Given the description of an element on the screen output the (x, y) to click on. 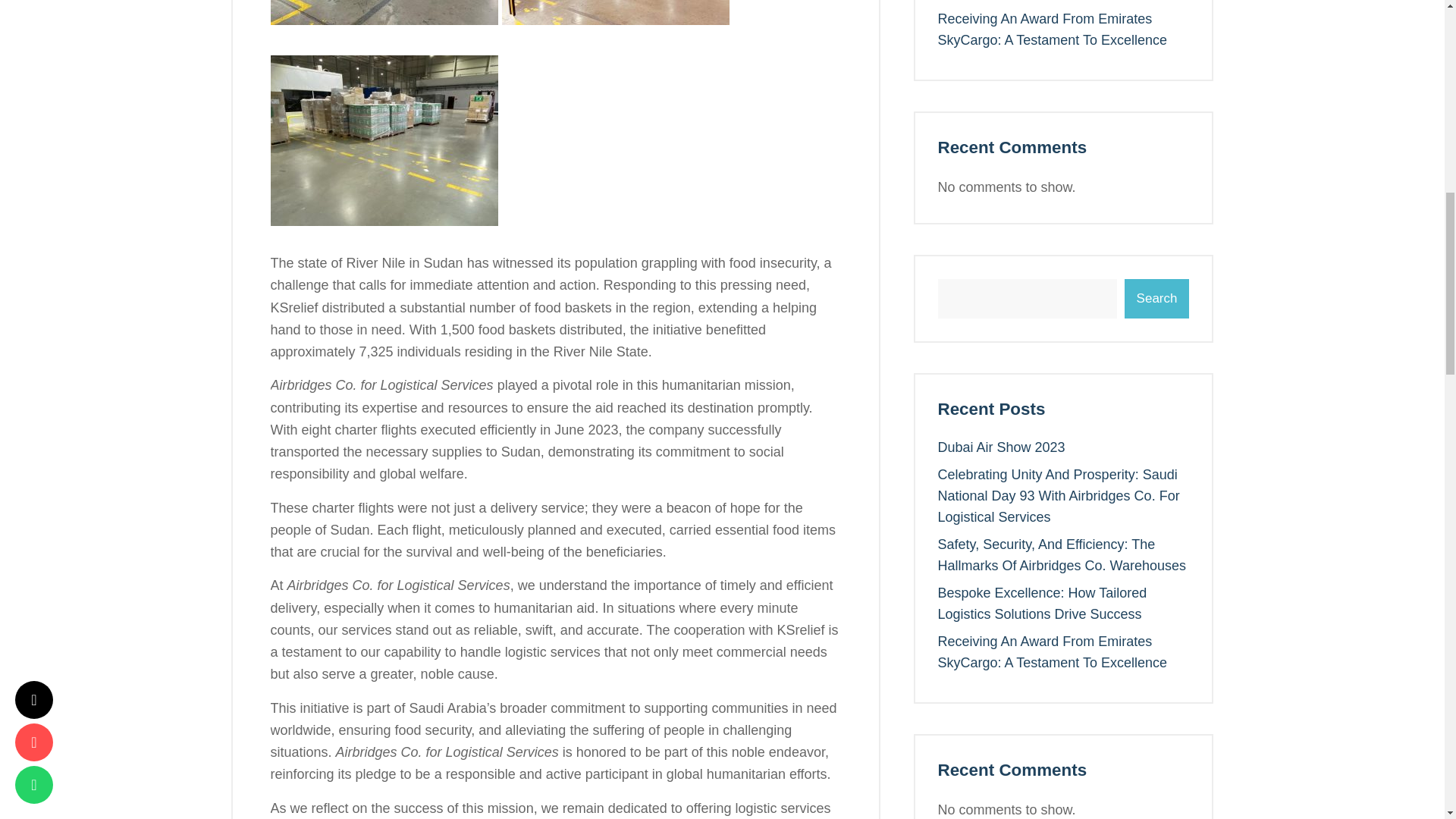
Search (1156, 298)
Dubai Air Show 2023 (1000, 447)
